Given the description of an element on the screen output the (x, y) to click on. 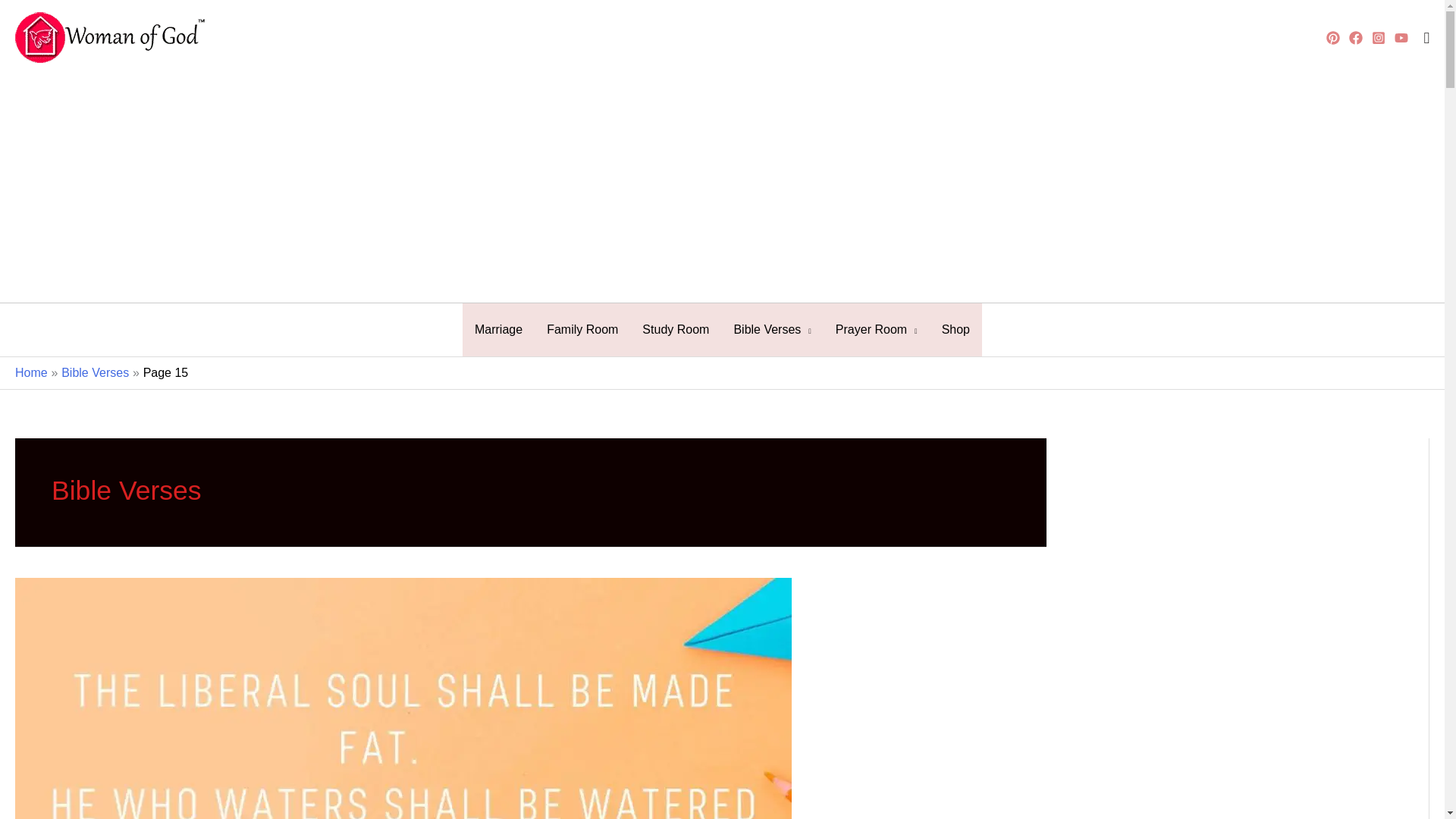
Shop (955, 329)
Marriage (498, 329)
Prayer Room (877, 329)
Study Room (675, 329)
Home (31, 372)
Bible Verses (95, 372)
Bible Verses (771, 329)
Family Room (582, 329)
